Given the description of an element on the screen output the (x, y) to click on. 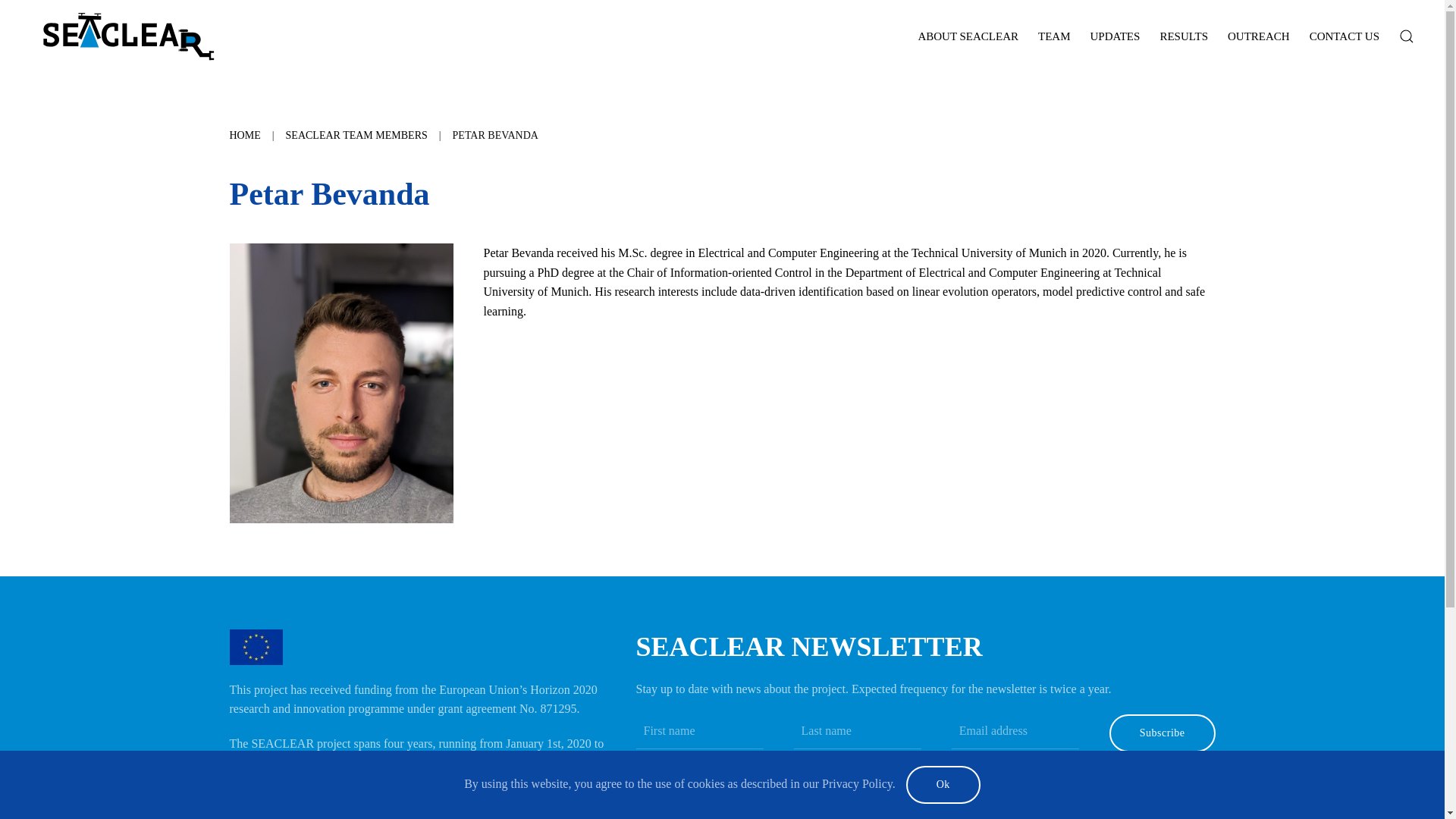
Subscribe (1162, 733)
SEACLEAR TEAM MEMBERS (356, 134)
ABOUT SEACLEAR (967, 36)
CONTACT US (1344, 36)
OUTREACH (1258, 36)
UPDATES (1115, 36)
RESULTS (1183, 36)
HOME (244, 134)
